Given the description of an element on the screen output the (x, y) to click on. 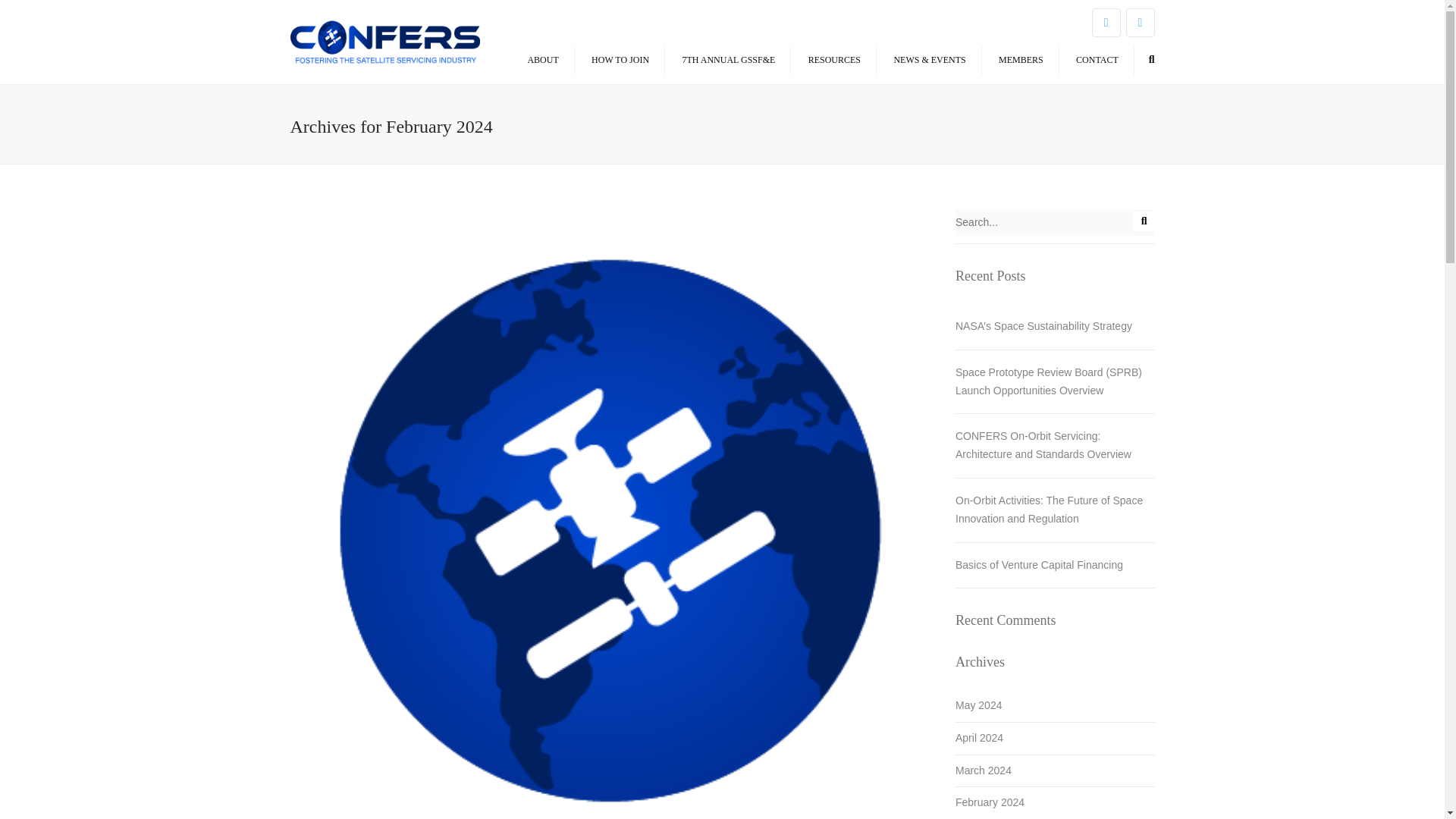
RESOURCES (833, 60)
MEMBERS (1021, 60)
HOW TO JOIN (619, 60)
CONTACT (1096, 60)
Search (1151, 59)
ABOUT (542, 60)
